Given the description of an element on the screen output the (x, y) to click on. 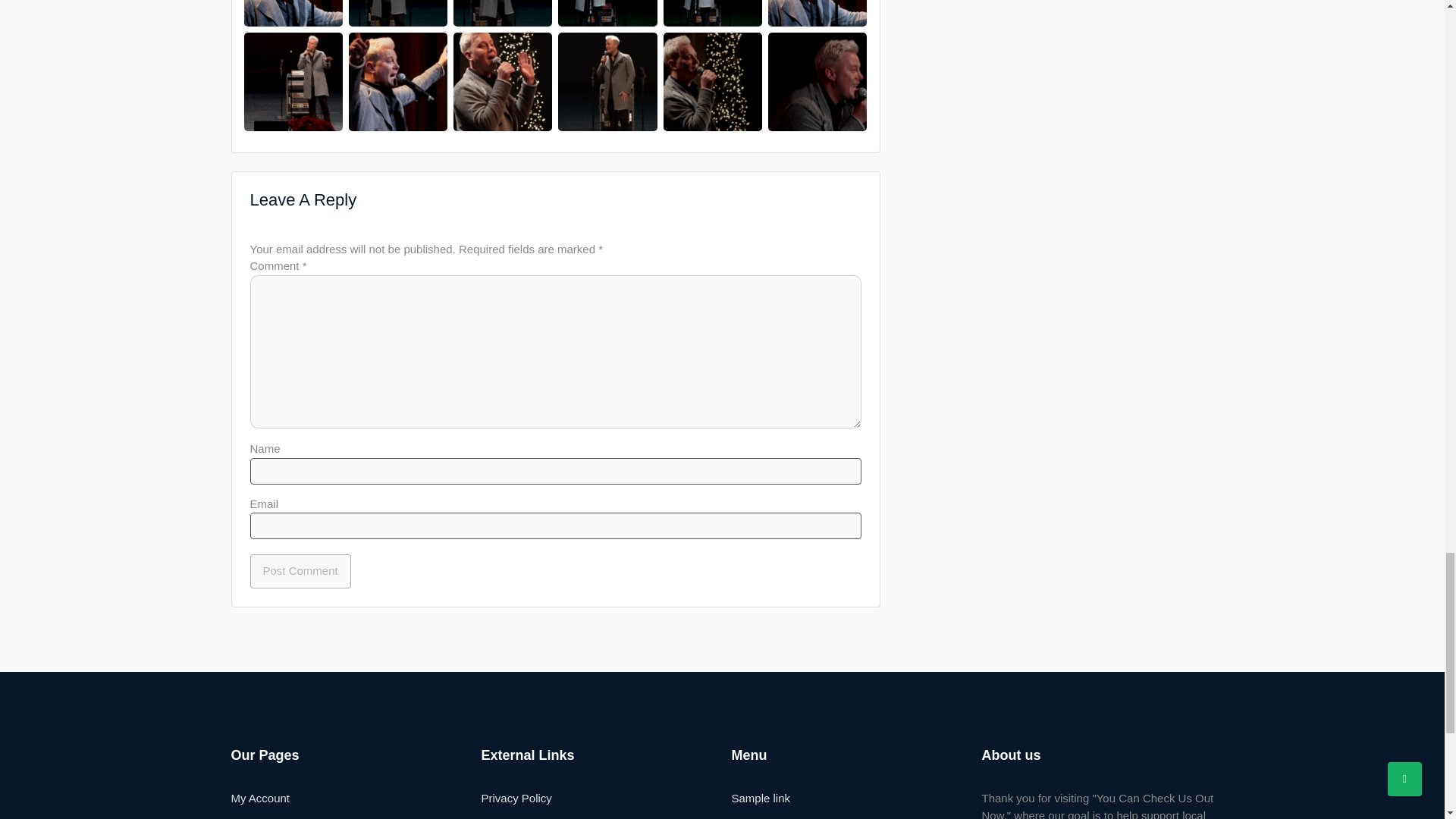
Post Comment (300, 571)
Post Comment (300, 571)
